Given the description of an element on the screen output the (x, y) to click on. 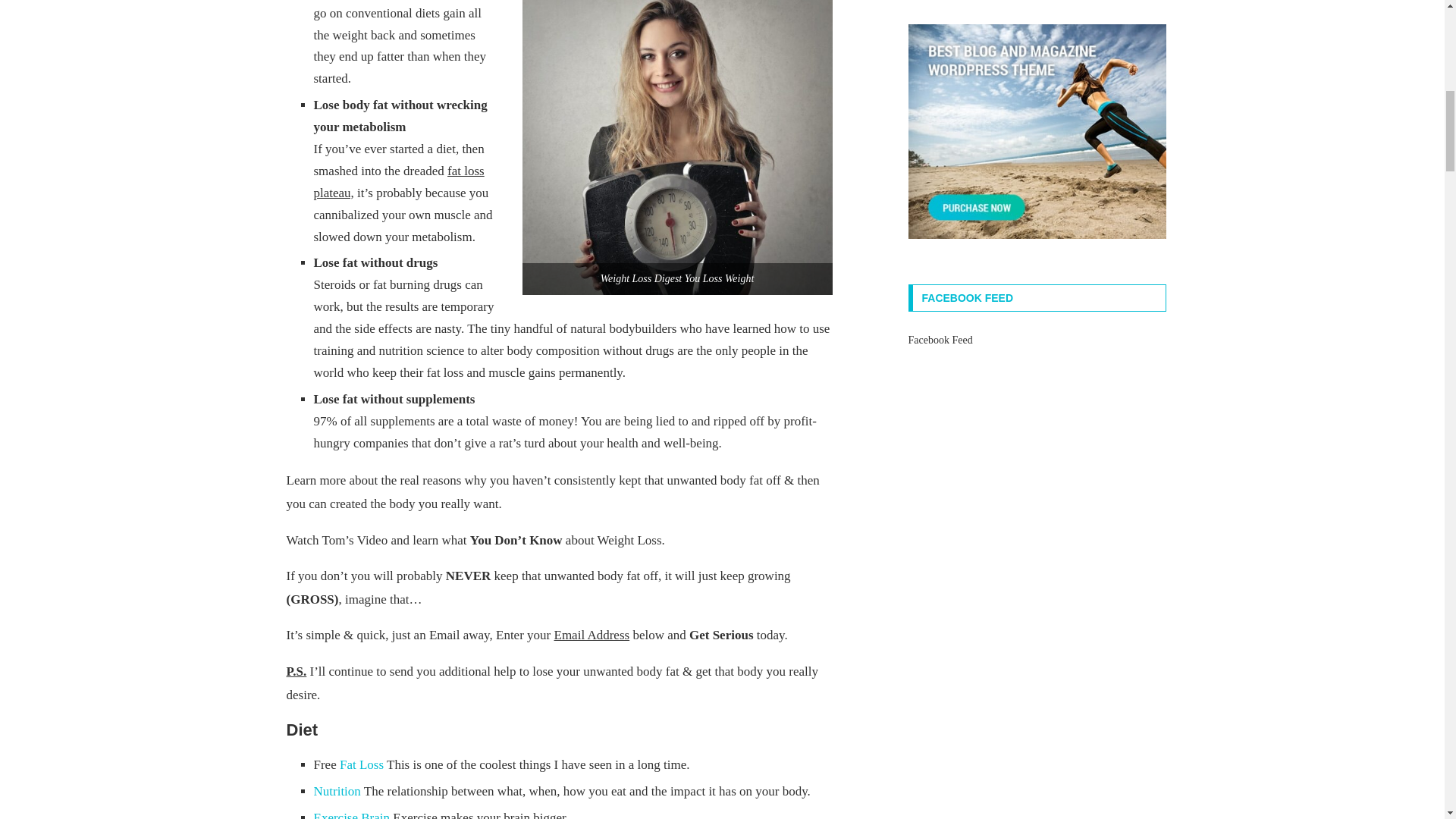
Fat Loss (361, 764)
Nutrition (337, 790)
Exercise makes your brain bigger. (352, 814)
